Given the description of an element on the screen output the (x, y) to click on. 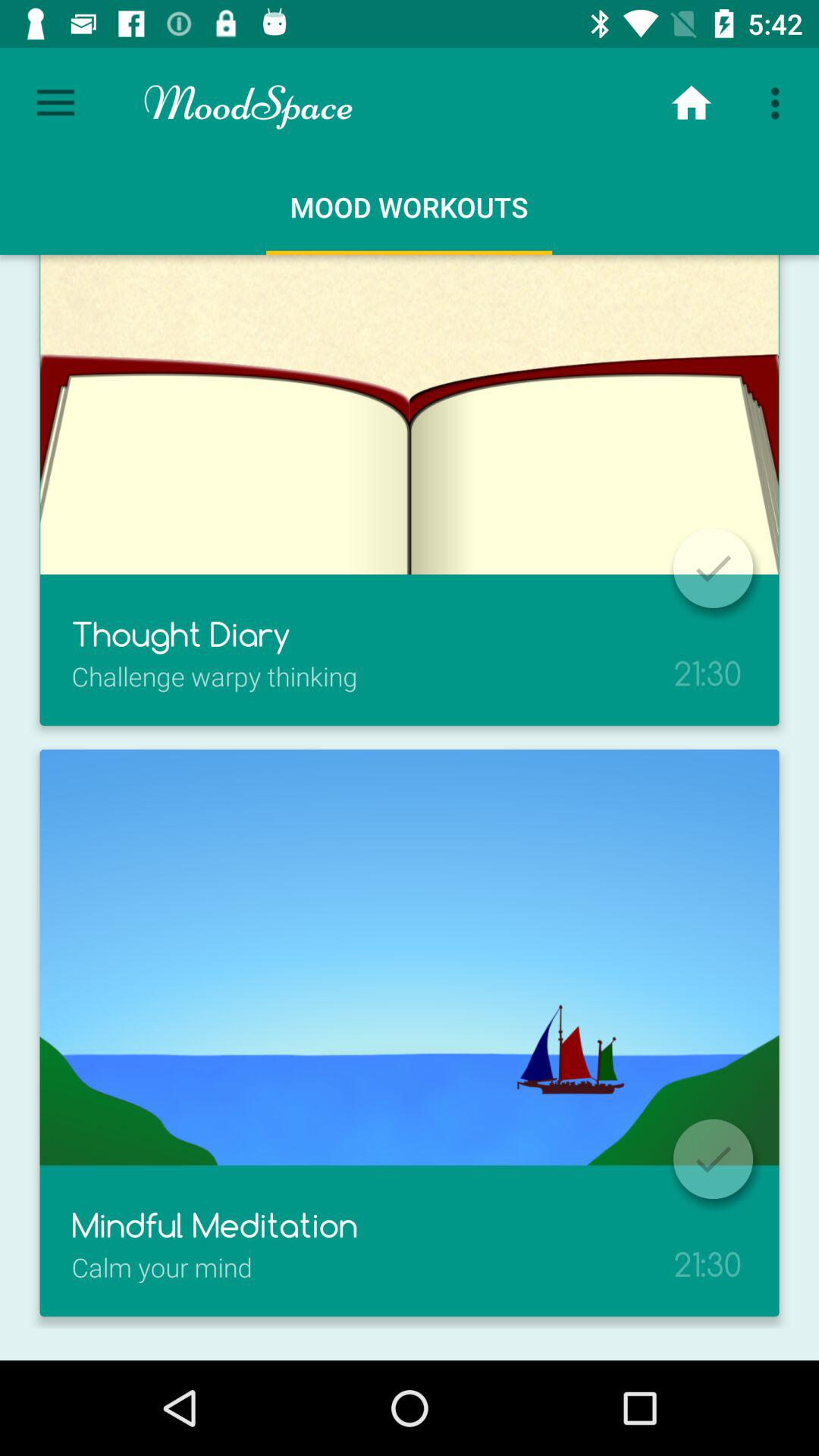
select mindful meditation (713, 1159)
